Given the description of an element on the screen output the (x, y) to click on. 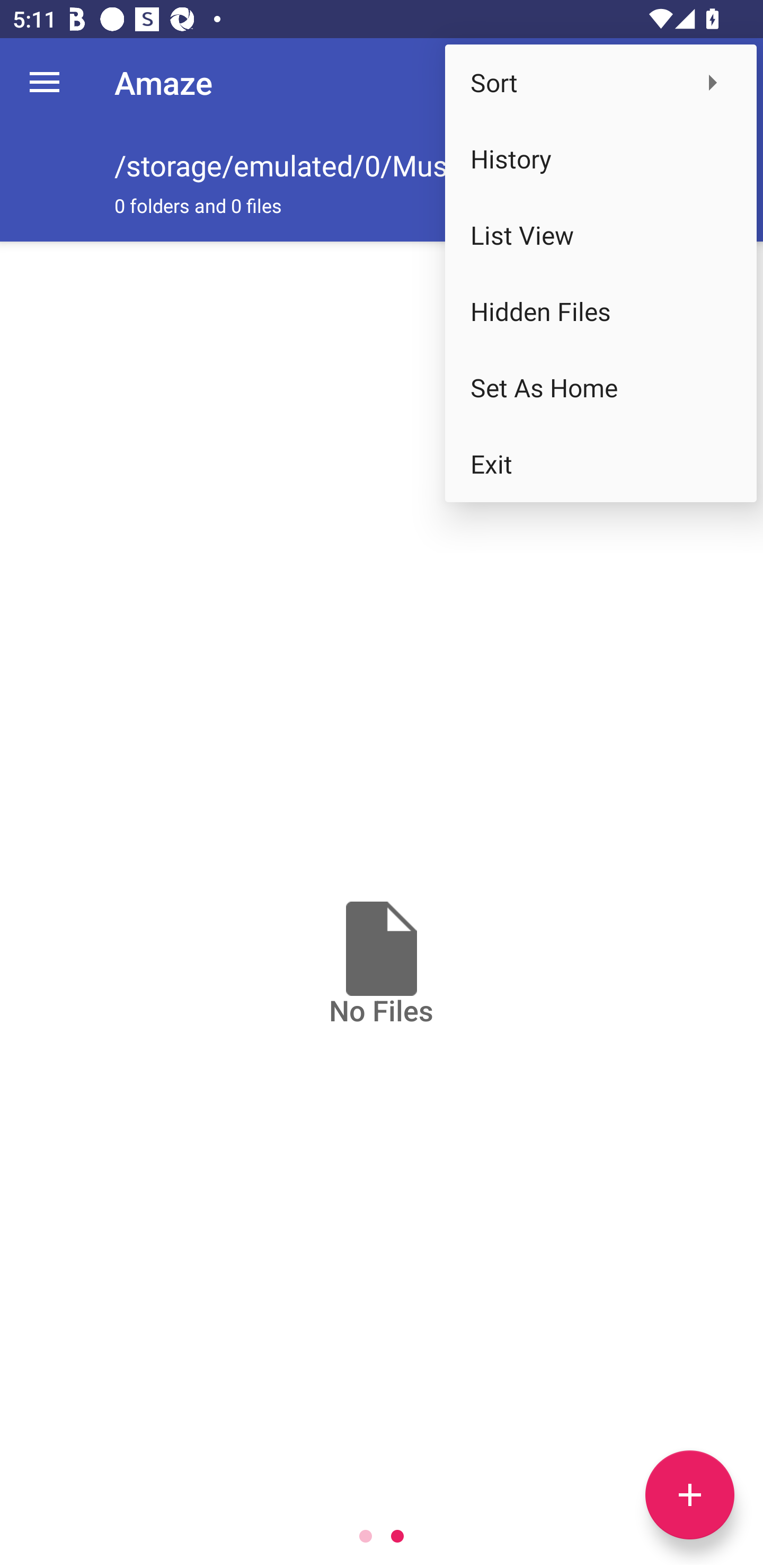
Sort (600, 81)
History (600, 158)
List View (600, 234)
Hidden Files (600, 310)
Set As Home (600, 387)
Exit (600, 463)
